Given the description of an element on the screen output the (x, y) to click on. 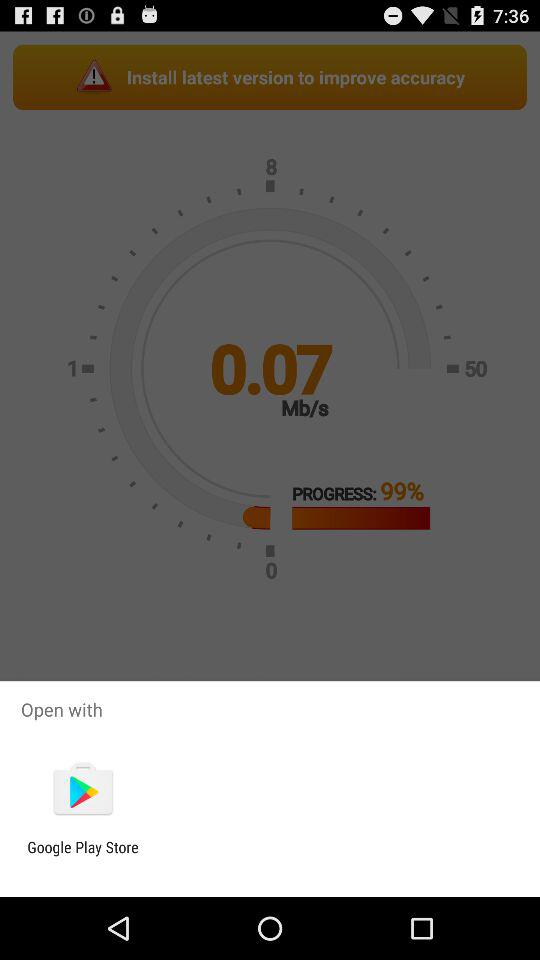
tap icon above the google play store (82, 789)
